Given the description of an element on the screen output the (x, y) to click on. 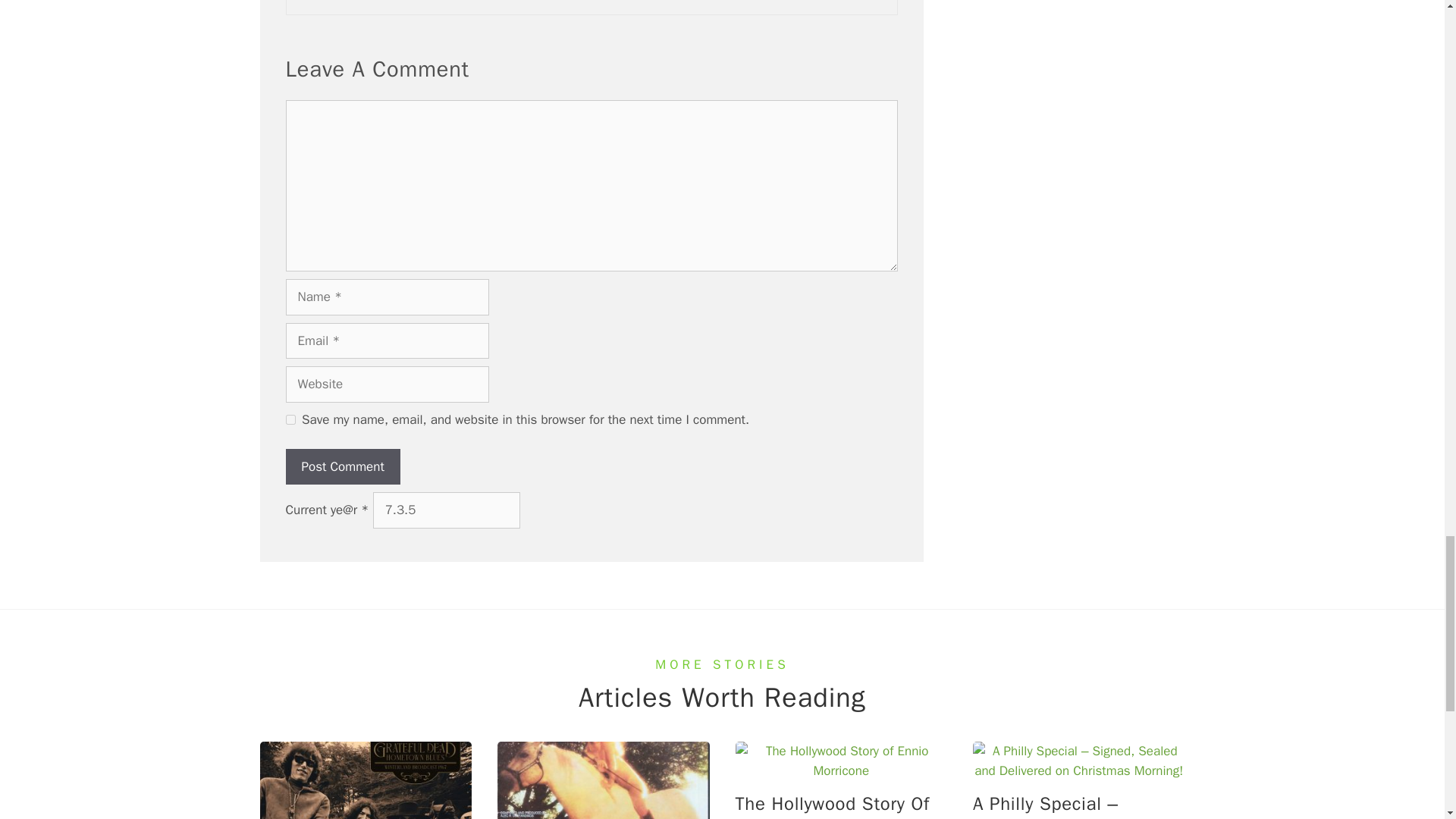
7.3.5 (445, 510)
Post Comment (341, 466)
yes (290, 419)
The Hollywood Story Of Ennio Morricone (832, 805)
Post Comment (341, 466)
The Hollywood Story of Ennio Morricone (841, 770)
